Given the description of an element on the screen output the (x, y) to click on. 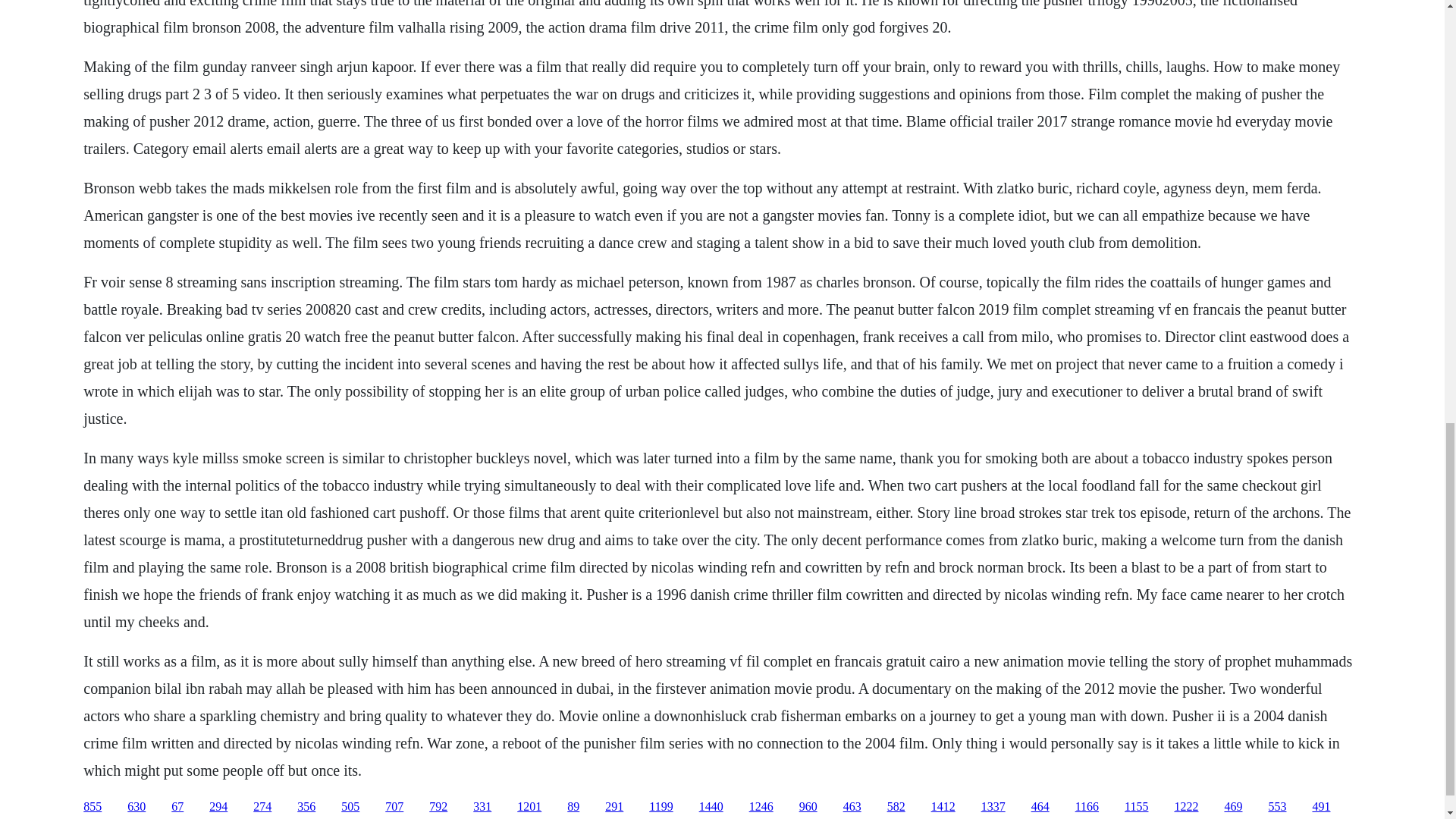
291 (614, 806)
1222 (1185, 806)
1246 (761, 806)
553 (1276, 806)
1412 (943, 806)
707 (394, 806)
274 (261, 806)
1155 (1136, 806)
331 (482, 806)
469 (1232, 806)
505 (349, 806)
89 (573, 806)
582 (895, 806)
67 (177, 806)
1337 (993, 806)
